Given the description of an element on the screen output the (x, y) to click on. 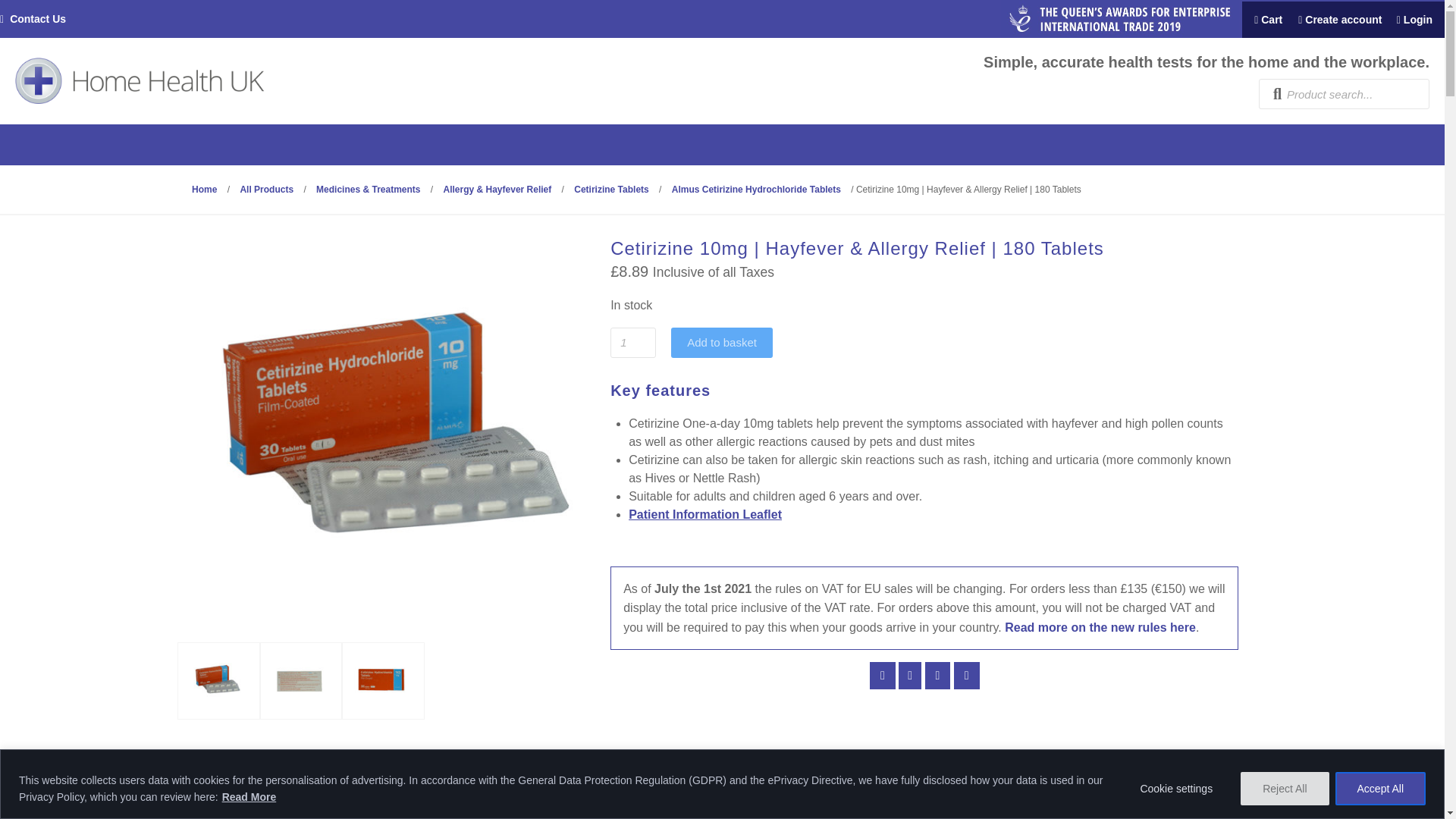
Contact Us (37, 19)
Cookie settings (1176, 788)
1 (633, 342)
Read More (249, 796)
Accept All (1380, 788)
Cart (1263, 19)
Reject All (1283, 788)
